Given the description of an element on the screen output the (x, y) to click on. 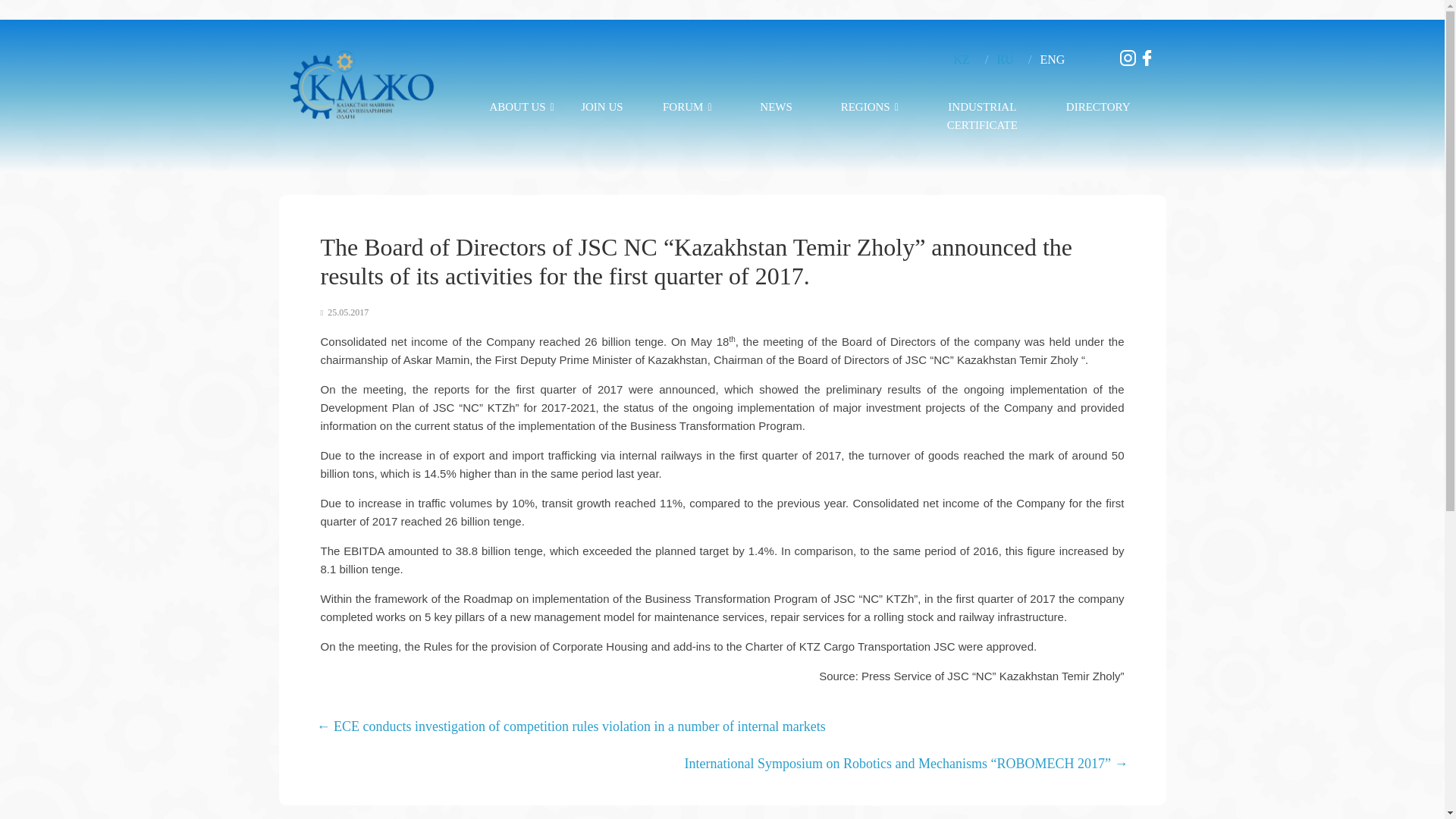
JOIN US (602, 101)
Association of Kazakhstan Machinery Industry (470, 97)
FORUM (687, 101)
ABOUT US (520, 101)
2:01 am (344, 312)
